Given the description of an element on the screen output the (x, y) to click on. 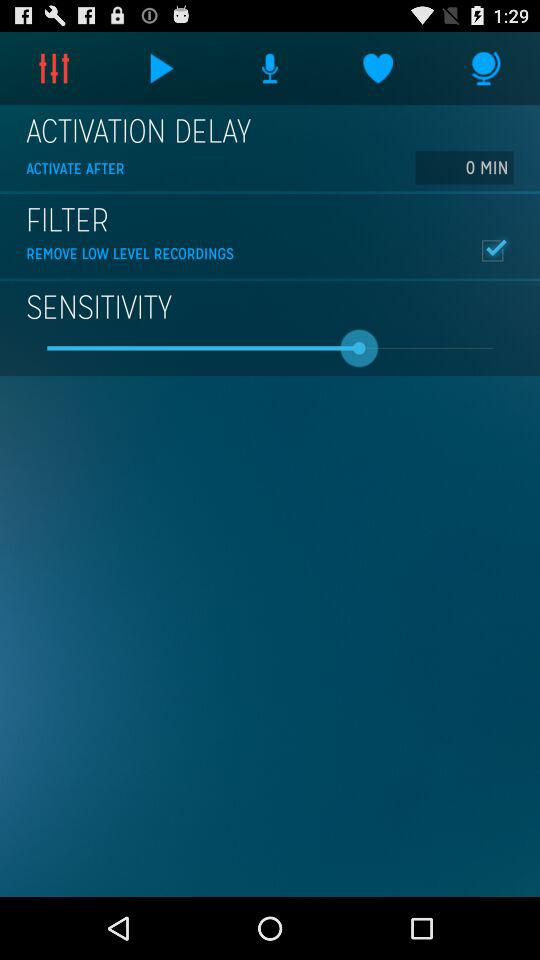
press item above the activation delay icon (54, 67)
